Given the description of an element on the screen output the (x, y) to click on. 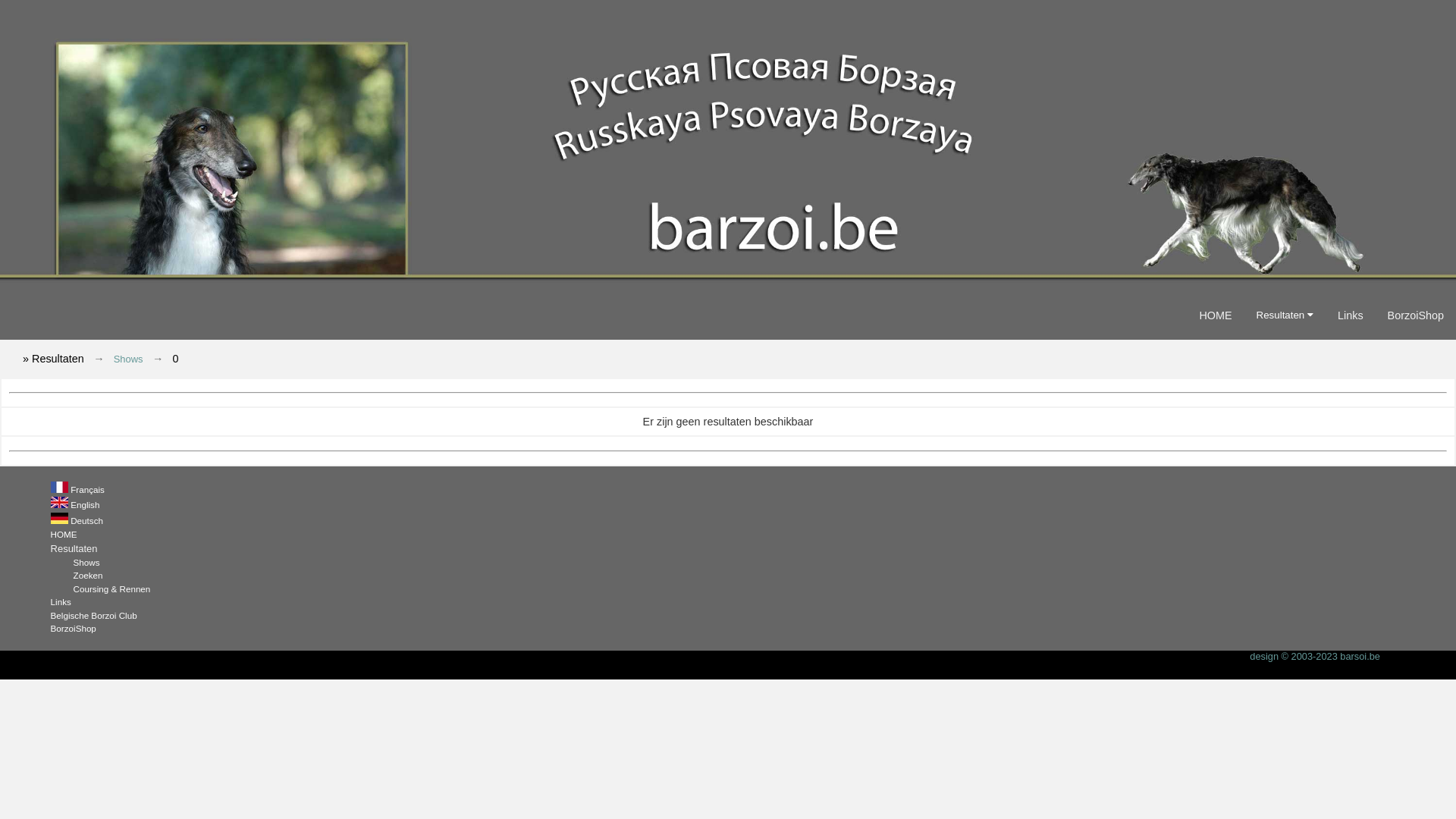
English Element type: text (84, 504)
Coursing & Rennen Element type: text (111, 588)
Shows Element type: text (86, 562)
HOME Element type: text (63, 534)
Links Element type: text (60, 601)
HOME Element type: text (1214, 315)
Deutsch Element type: text (86, 520)
Belgische Borzoi Club Element type: text (93, 615)
Zoeken Element type: text (88, 575)
BorzoiShop Element type: text (73, 628)
Resultaten Element type: text (1284, 314)
Shows Element type: text (128, 358)
Links Element type: text (1350, 315)
